Given the description of an element on the screen output the (x, y) to click on. 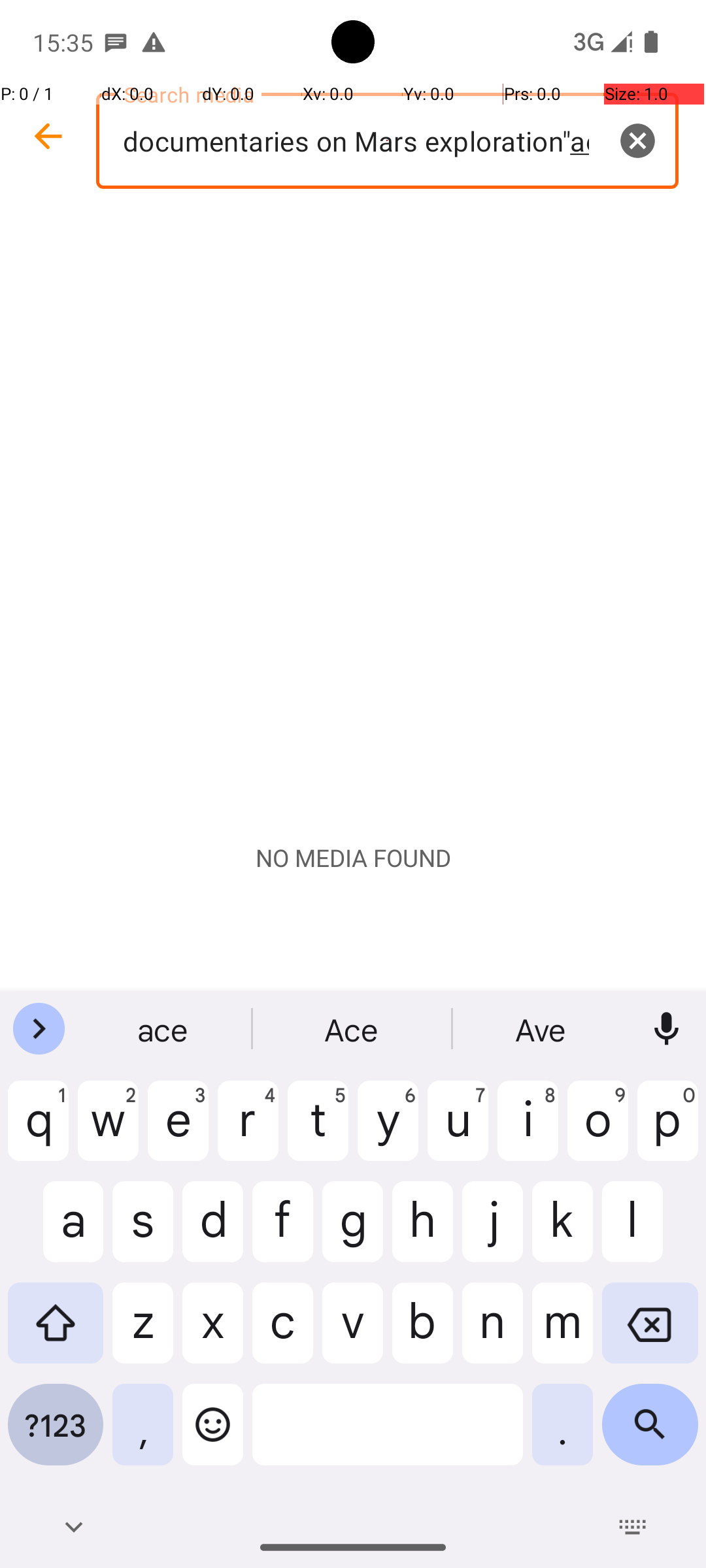
"Documentary about sp"Space documentaries on Mars exploration"ace exploration" Element type: android.widget.EditText (387, 140)
Clear text Element type: android.widget.ImageButton (637, 140)
NO MEDIA FOUND Element type: android.widget.TextView (353, 857)
ace Element type: android.widget.FrameLayout (163, 1028)
exploration ace Element type: android.widget.FrameLayout (352, 1028)
exploration Ace Element type: android.widget.FrameLayout (541, 1028)
